Given the description of an element on the screen output the (x, y) to click on. 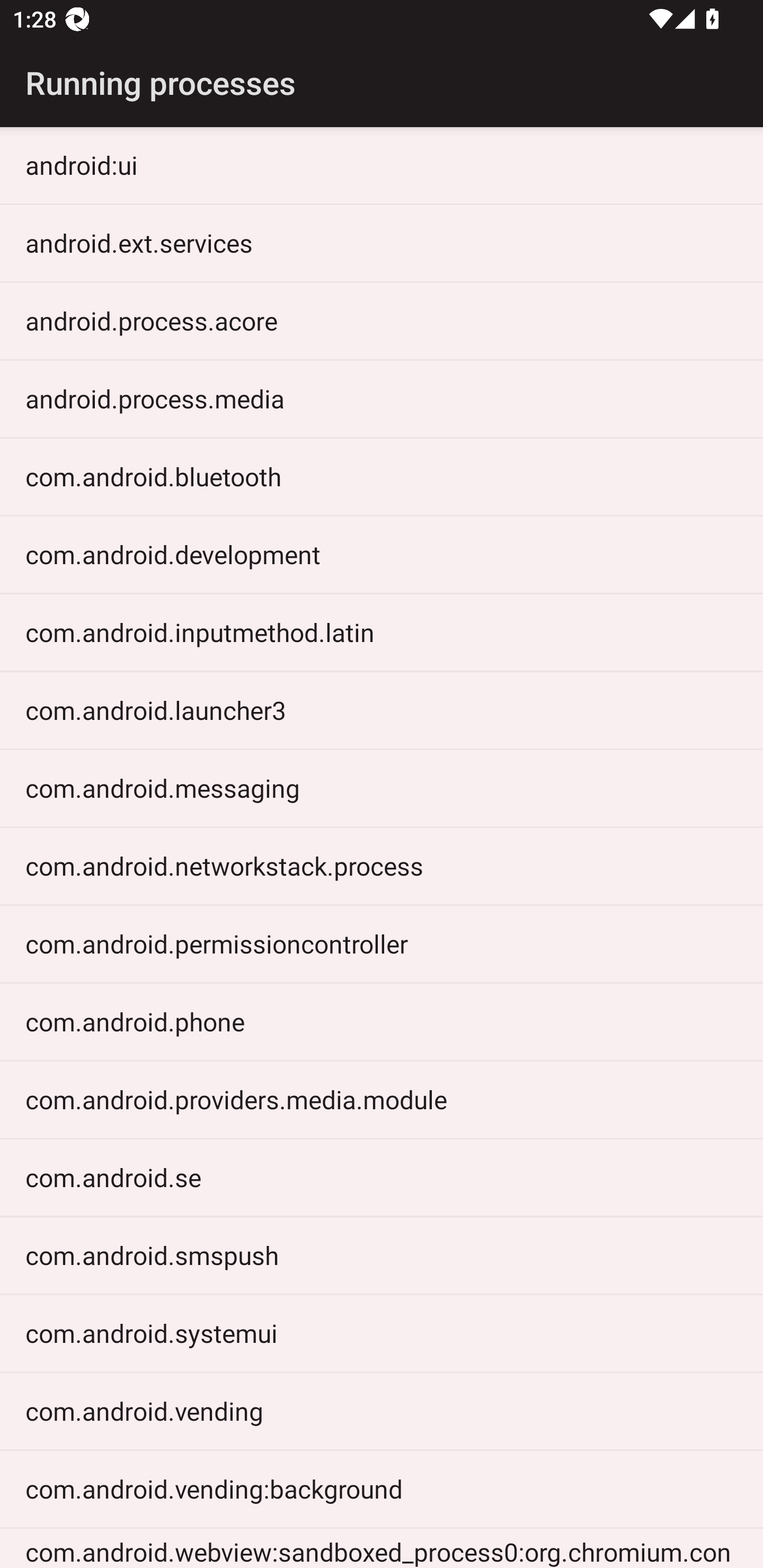
android:ui (381, 165)
android.ext.services (381, 242)
android.process.acore (381, 320)
android.process.media (381, 398)
com.android.bluetooth (381, 476)
com.android.development (381, 553)
com.android.inputmethod.latin (381, 632)
com.android.launcher3 (381, 709)
com.android.messaging (381, 787)
com.android.networkstack.process (381, 865)
com.android.permissioncontroller (381, 943)
com.android.phone (381, 1021)
com.android.providers.media.module (381, 1099)
com.android.se (381, 1177)
com.android.smspush (381, 1254)
com.android.systemui (381, 1333)
com.android.vending (381, 1410)
com.android.vending:background (381, 1488)
